Given the description of an element on the screen output the (x, y) to click on. 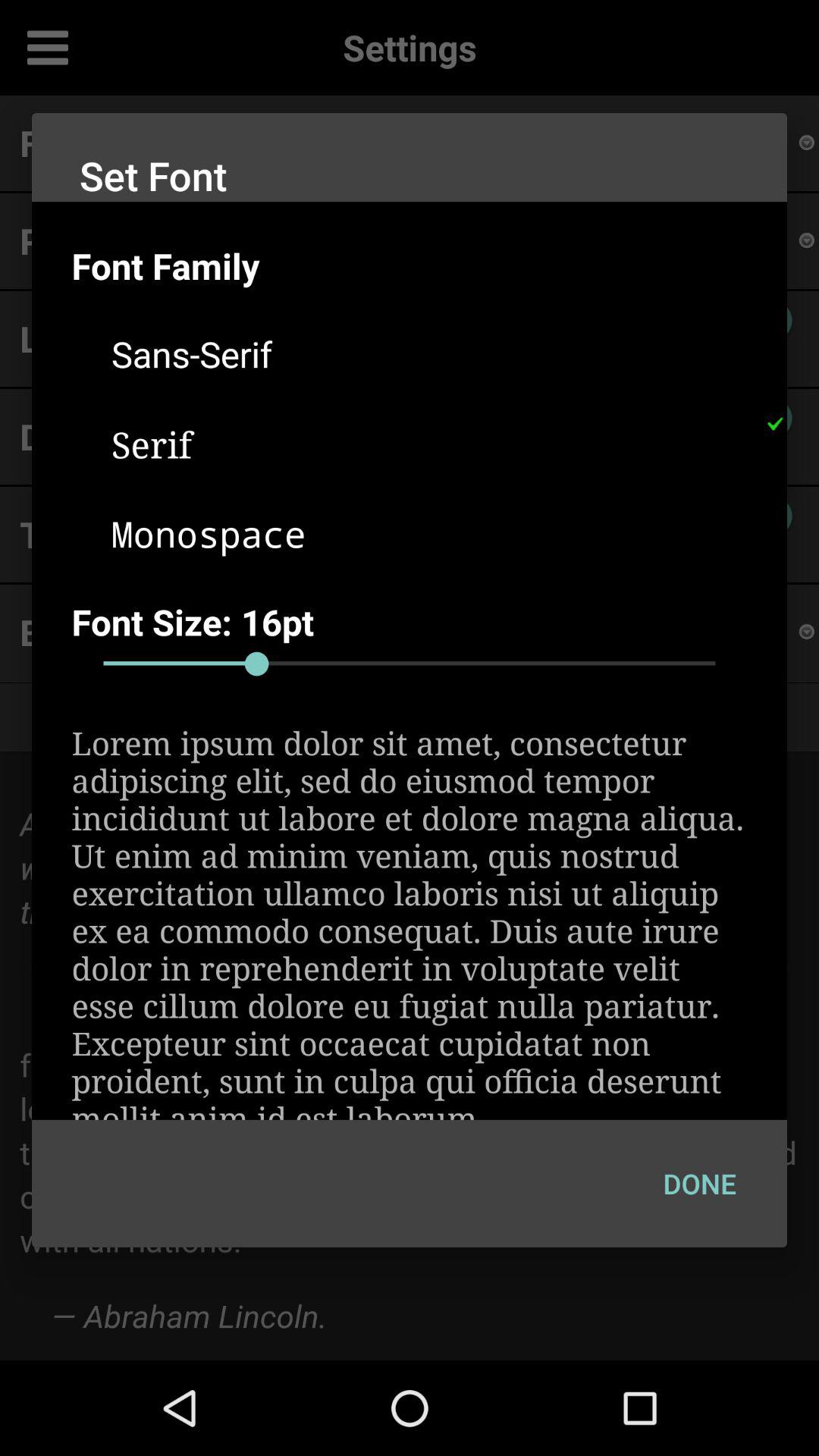
select the item above the lorem ipsum dolor icon (409, 663)
